Given the description of an element on the screen output the (x, y) to click on. 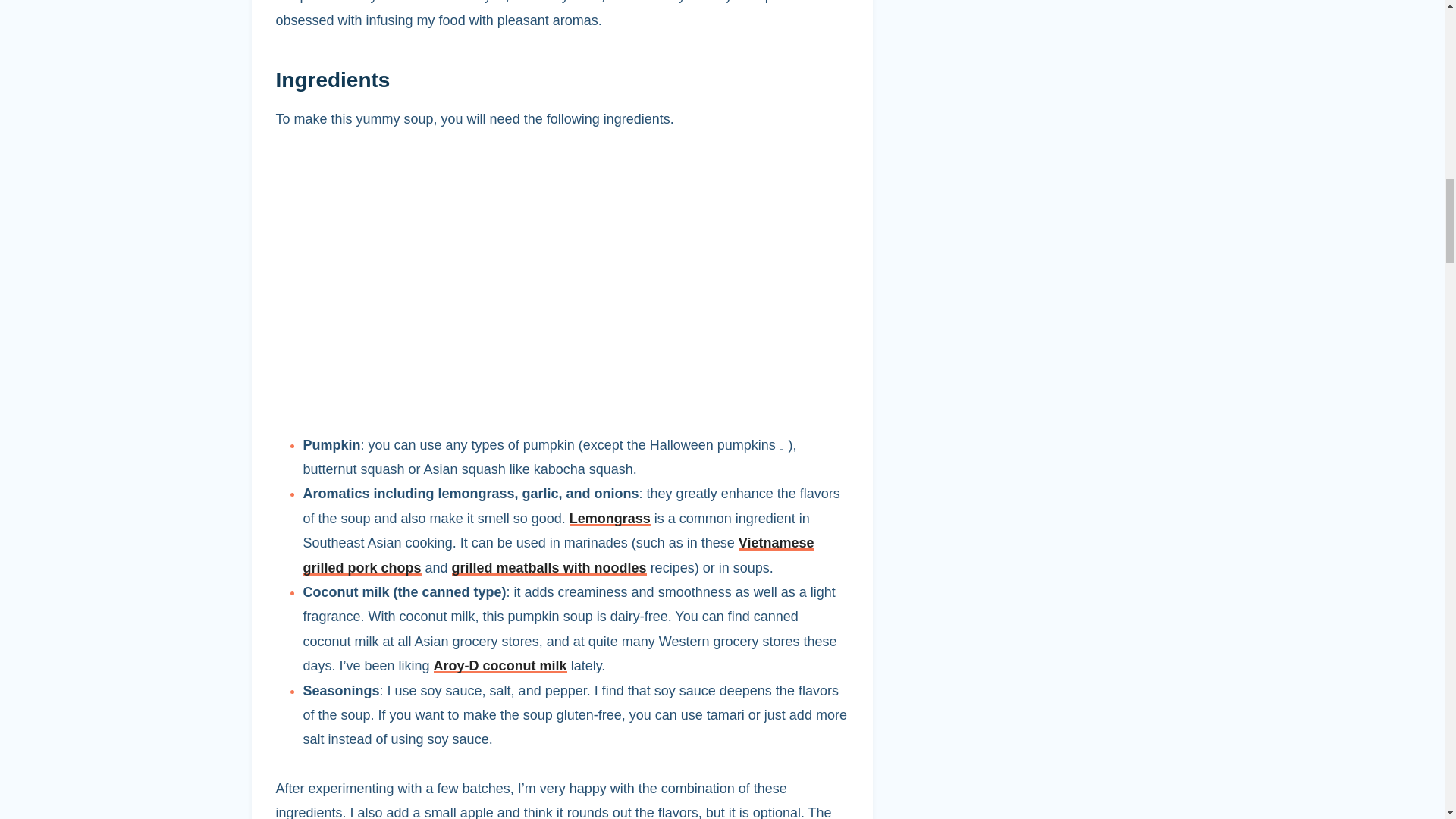
Vietnamese grilled pork chops (557, 554)
grilled meatballs with noodles (548, 567)
Lemongrass (609, 518)
Aroy-D coconut milk (500, 665)
